Given the description of an element on the screen output the (x, y) to click on. 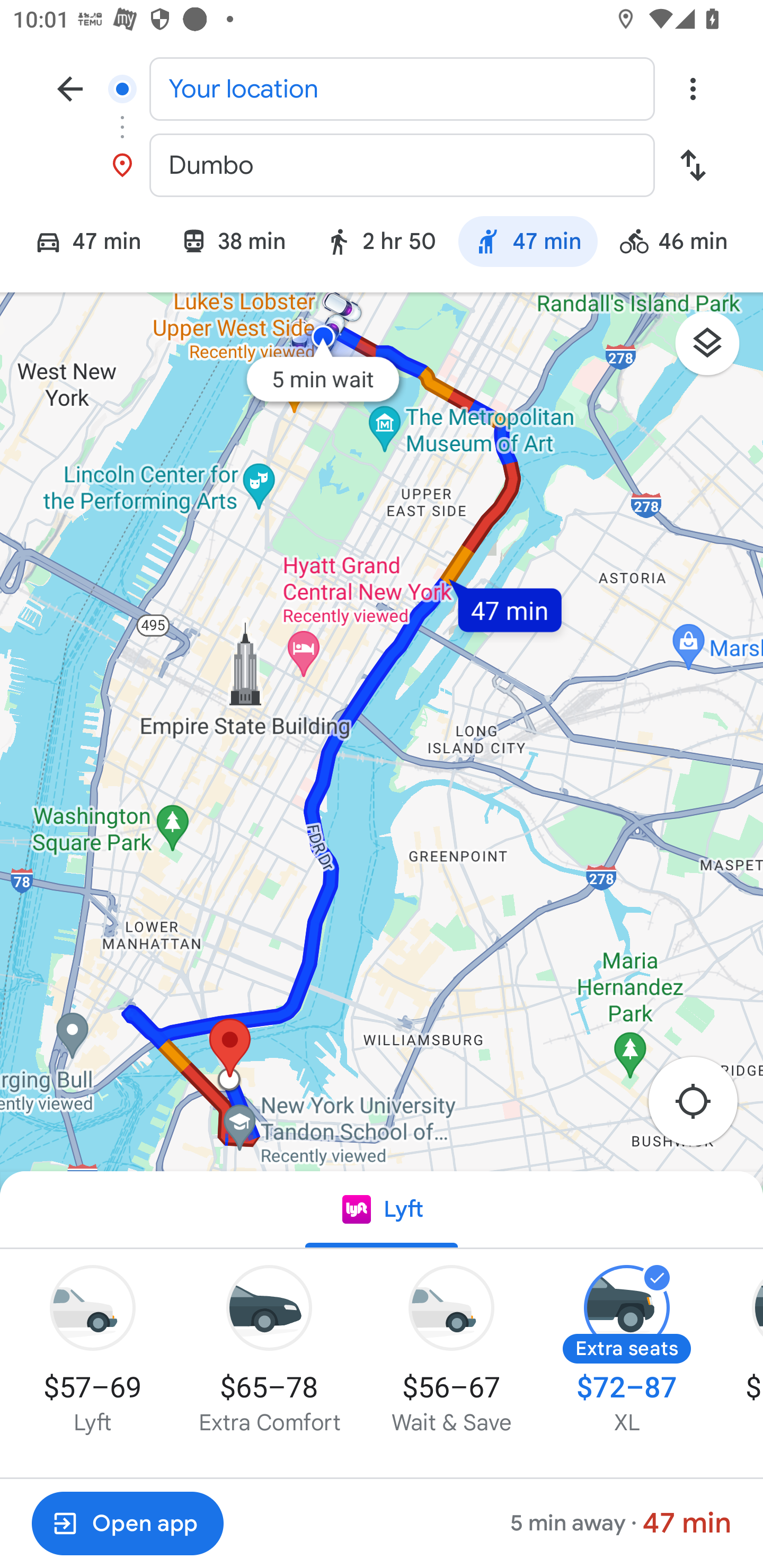
Navigate up (70, 88)
Your location Start location, Your location (381, 88)
Overflow menu (692, 88)
Dumbo Destination, Dumbo (381, 165)
Swap start and destination (692, 165)
Driving mode: 47 min 47 min (80, 244)
Transit mode: 38 min 38 min (232, 244)
Walking mode: 2 hr 50 2 hr 50 (380, 244)
Bicycling mode: 46 min 46 min (682, 244)
Layers (716, 349)
Re-center map to your location (702, 1106)
Lyft (381, 1209)
Economy
Lyft
$57 to $69 $57–69 $57 to $69 Lyft (92, 1350)
Open app Open app Open app (127, 1522)
